Given the description of an element on the screen output the (x, y) to click on. 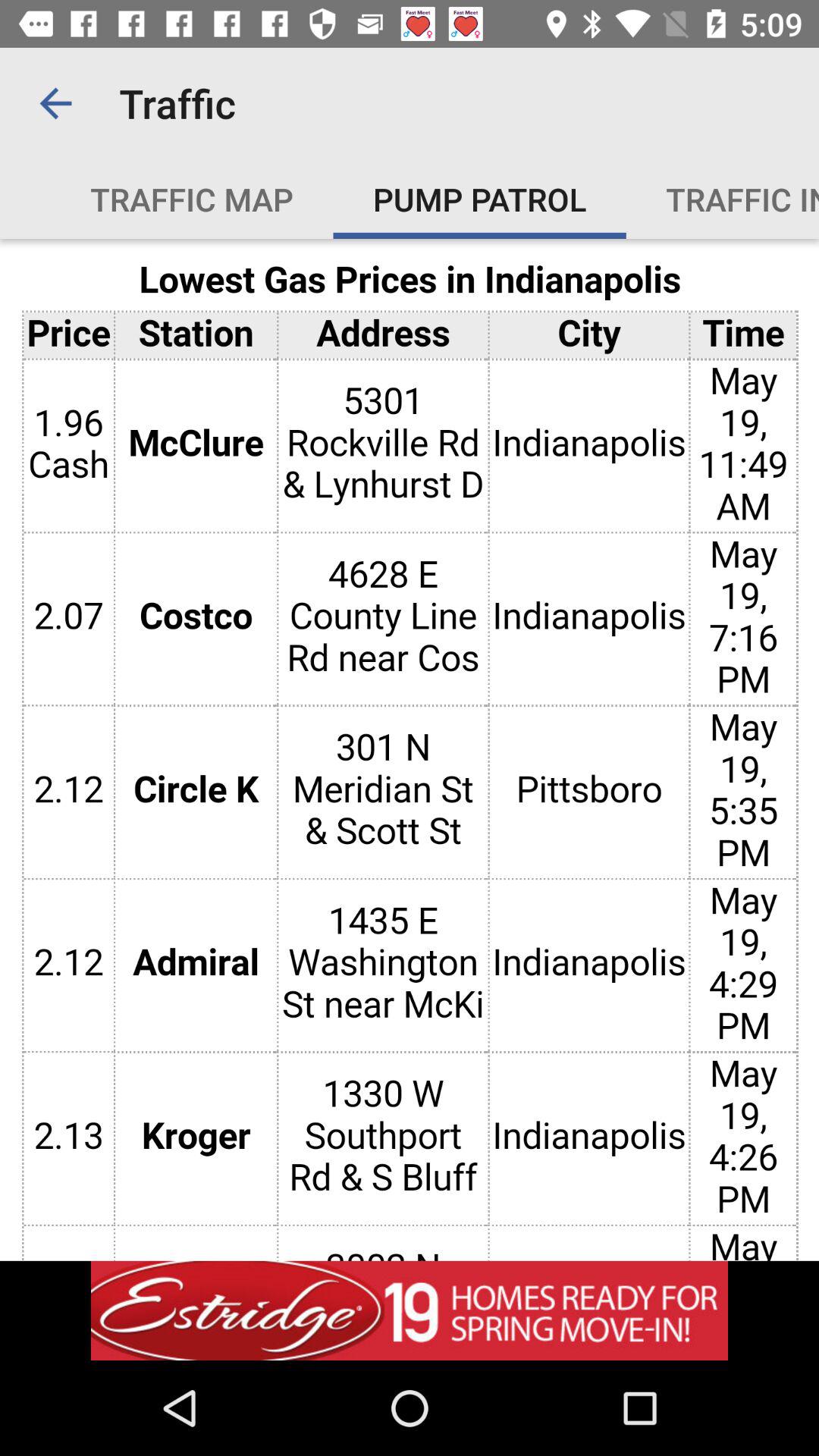
add the option (409, 1310)
